Given the description of an element on the screen output the (x, y) to click on. 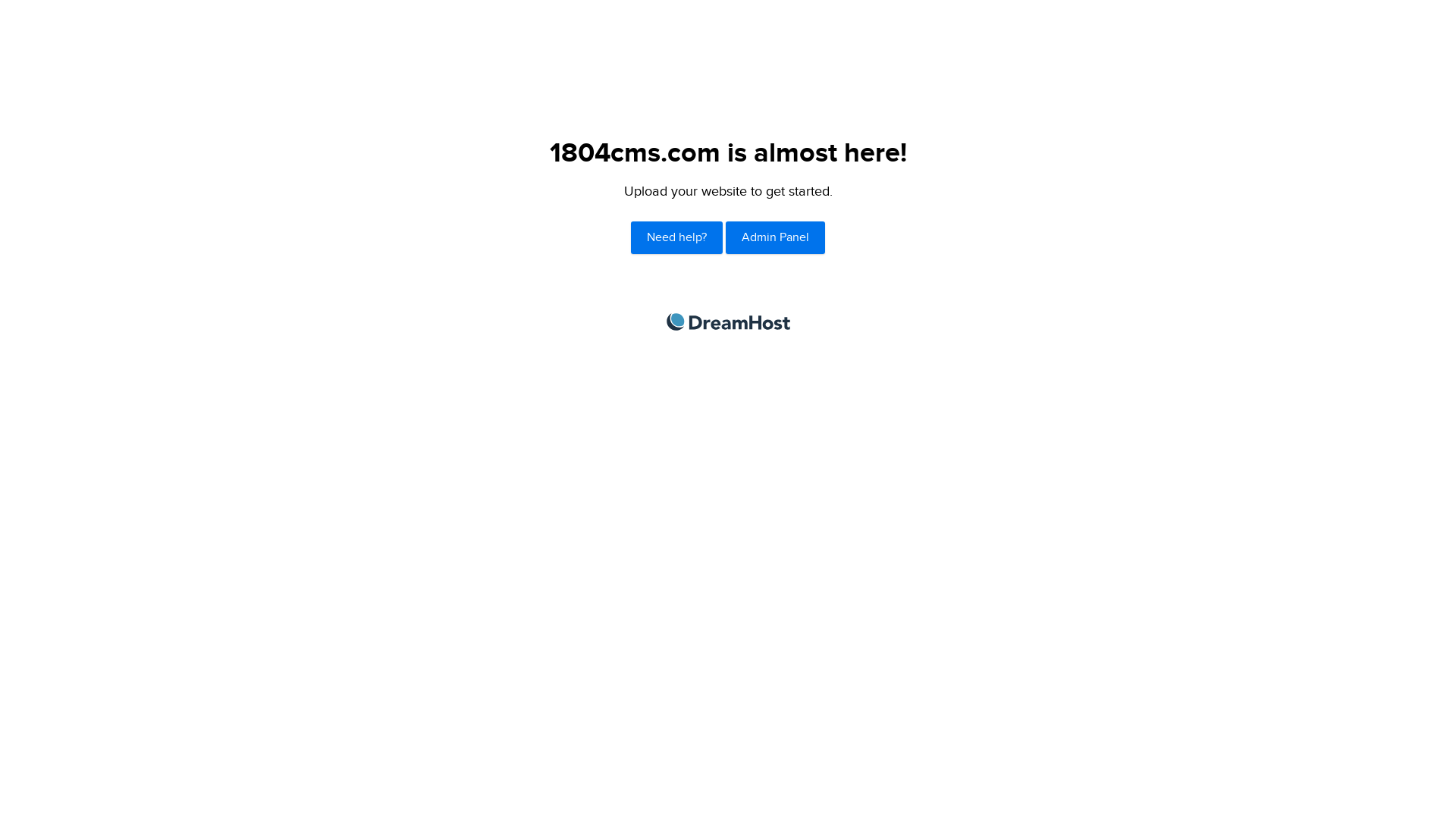
DreamHost Element type: text (727, 320)
Admin Panel Element type: text (775, 237)
Need help? Element type: text (676, 237)
